Given the description of an element on the screen output the (x, y) to click on. 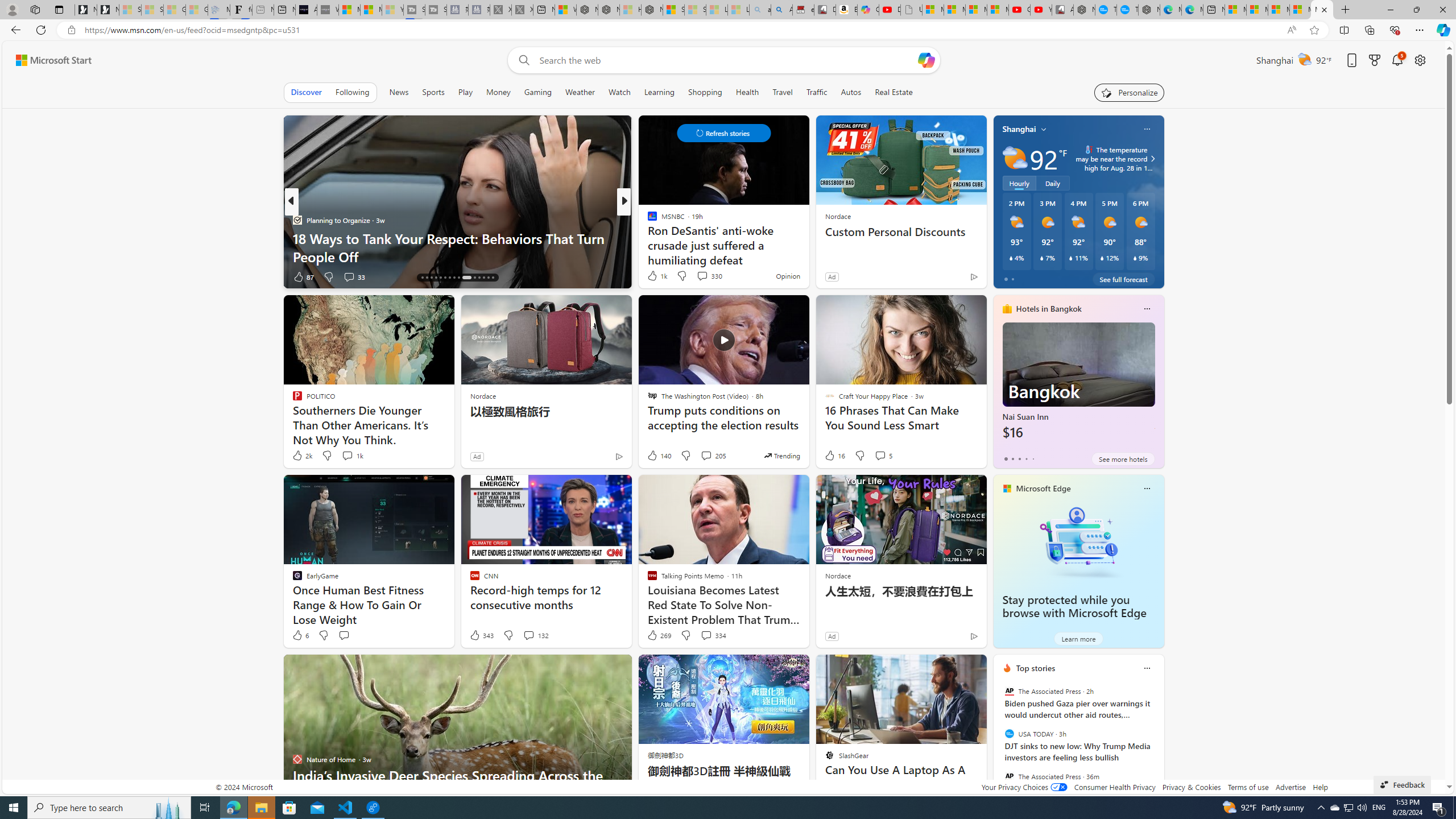
Real Estate (893, 92)
See more hotels (1123, 459)
AutomationID: tab-23 (454, 277)
Start the conversation (343, 635)
91 Like (652, 276)
View comments 55 Comment (704, 276)
Consumer Health Privacy (1115, 786)
View comments 96 Comment (707, 276)
Restore (1416, 9)
Read aloud this page (Ctrl+Shift+U) (1291, 29)
AutomationID: tab-29 (488, 277)
